Given the description of an element on the screen output the (x, y) to click on. 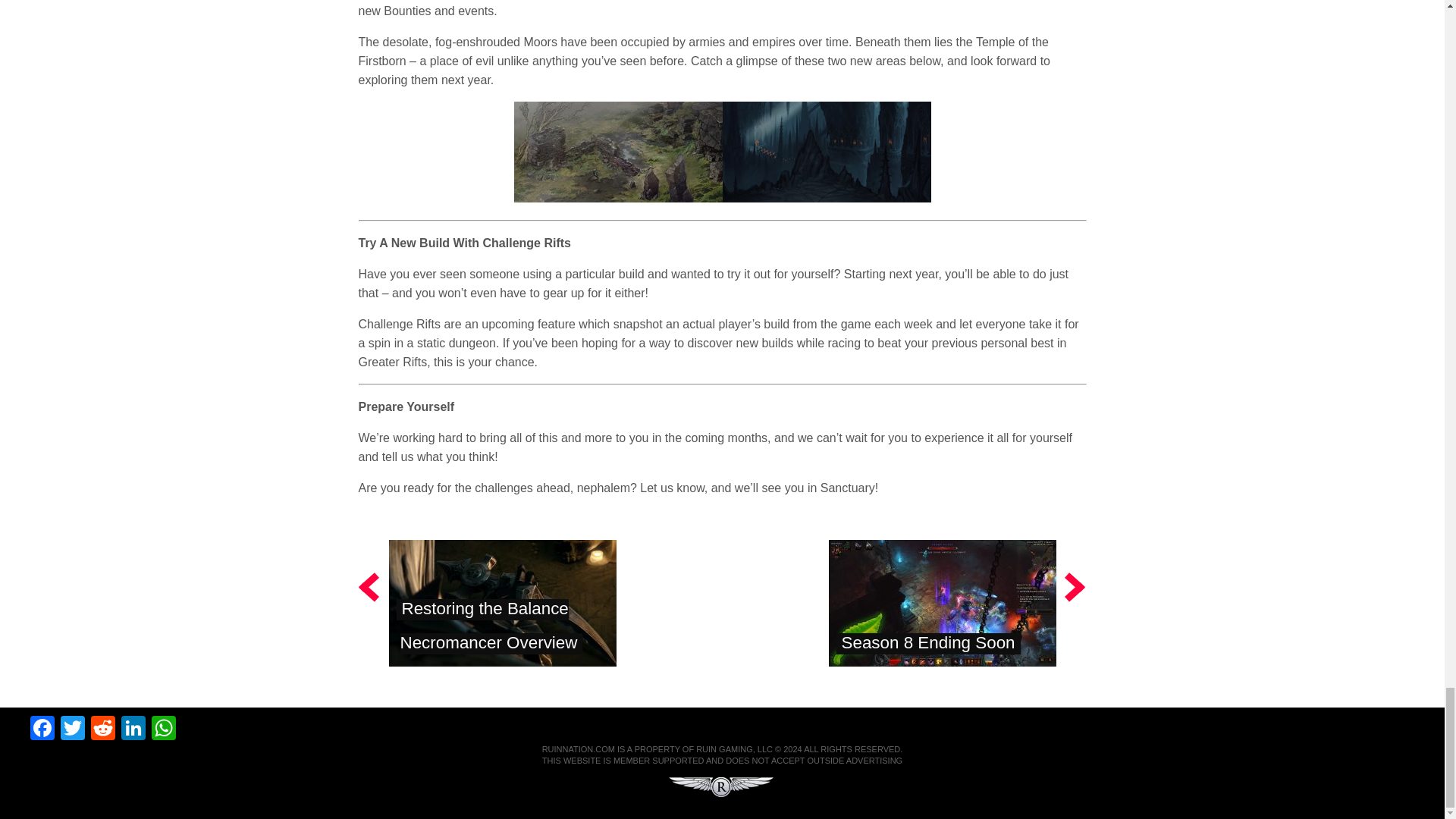
Twitter (72, 729)
LinkedIn (132, 729)
WhatsApp (163, 729)
Reddit (102, 729)
Facebook (42, 729)
